Given the description of an element on the screen output the (x, y) to click on. 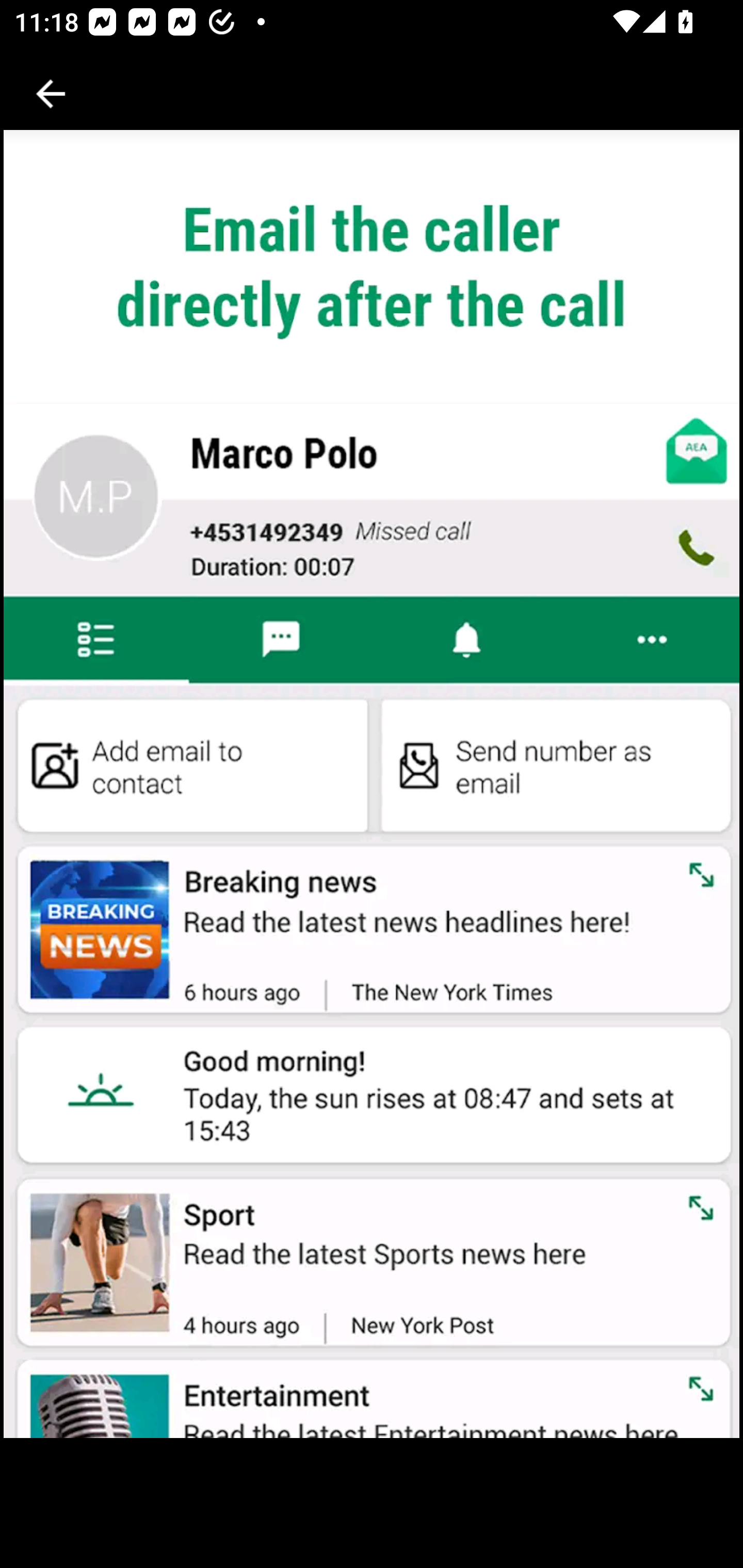
Back (50, 93)
